Given the description of an element on the screen output the (x, y) to click on. 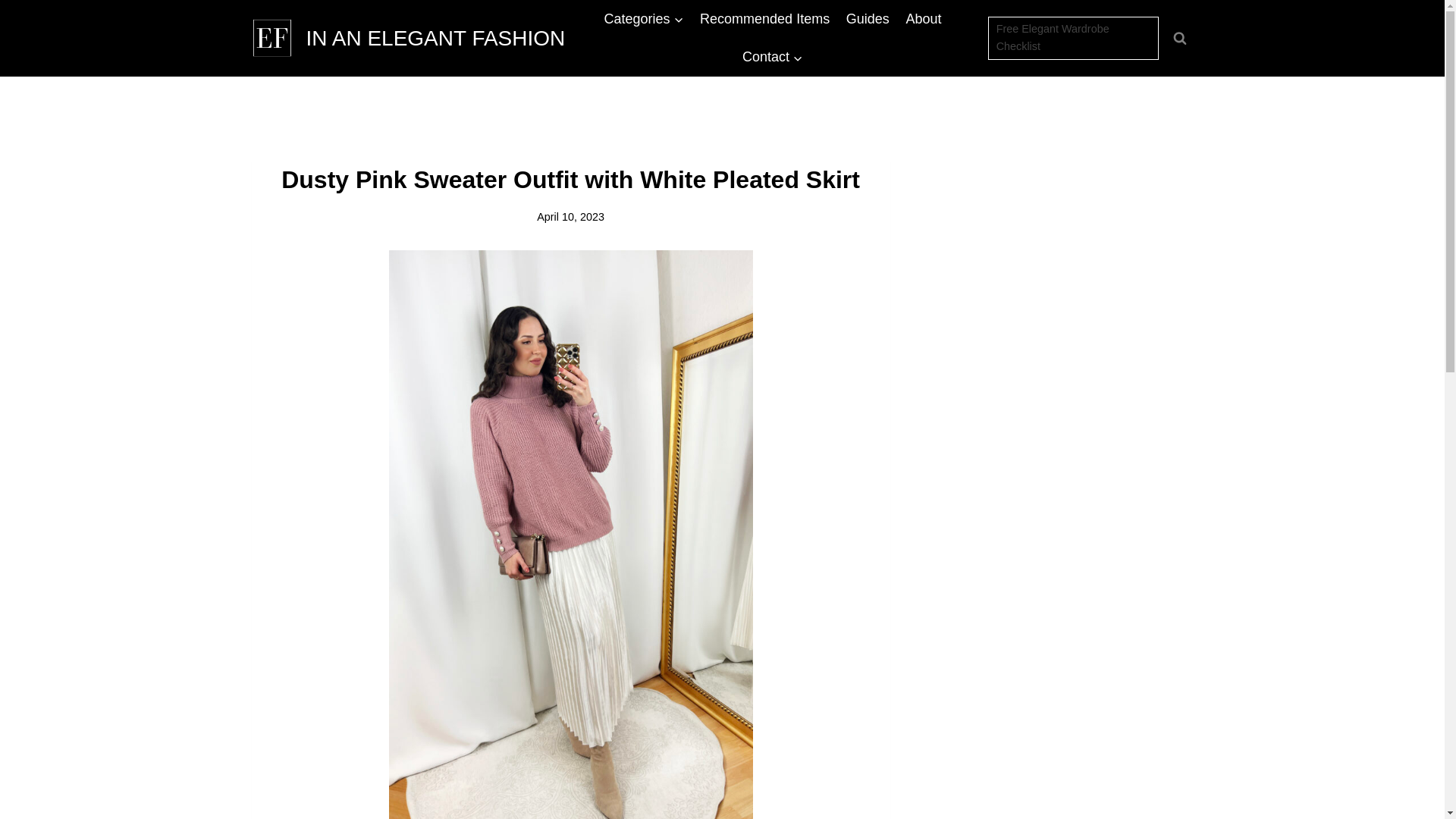
Categories (644, 18)
IN AN ELEGANT FASHION (408, 37)
